Given the description of an element on the screen output the (x, y) to click on. 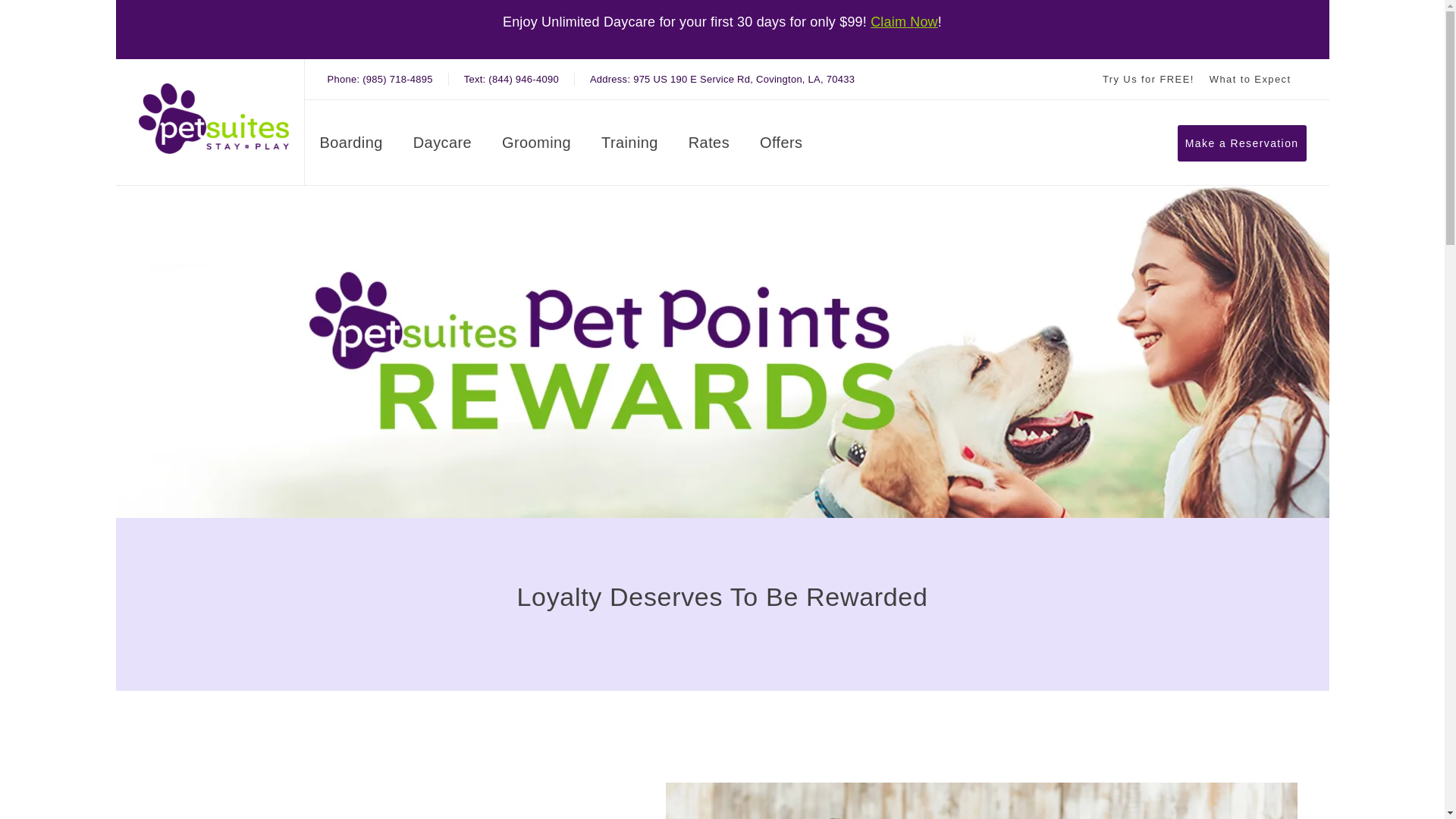
Try Us for FREE! (1147, 78)
Grooming (536, 145)
Training (629, 145)
Daycare (721, 78)
Daycare (442, 145)
Claim Now (442, 145)
Grooming (903, 21)
Address: 975 US 190 E Service Rd, Covington, LA, 70433 (536, 145)
Rates (721, 78)
What to Expect (708, 145)
Logo (1250, 78)
What to Expect (213, 118)
Boarding (1250, 78)
Make a Reservation (351, 145)
